Given the description of an element on the screen output the (x, y) to click on. 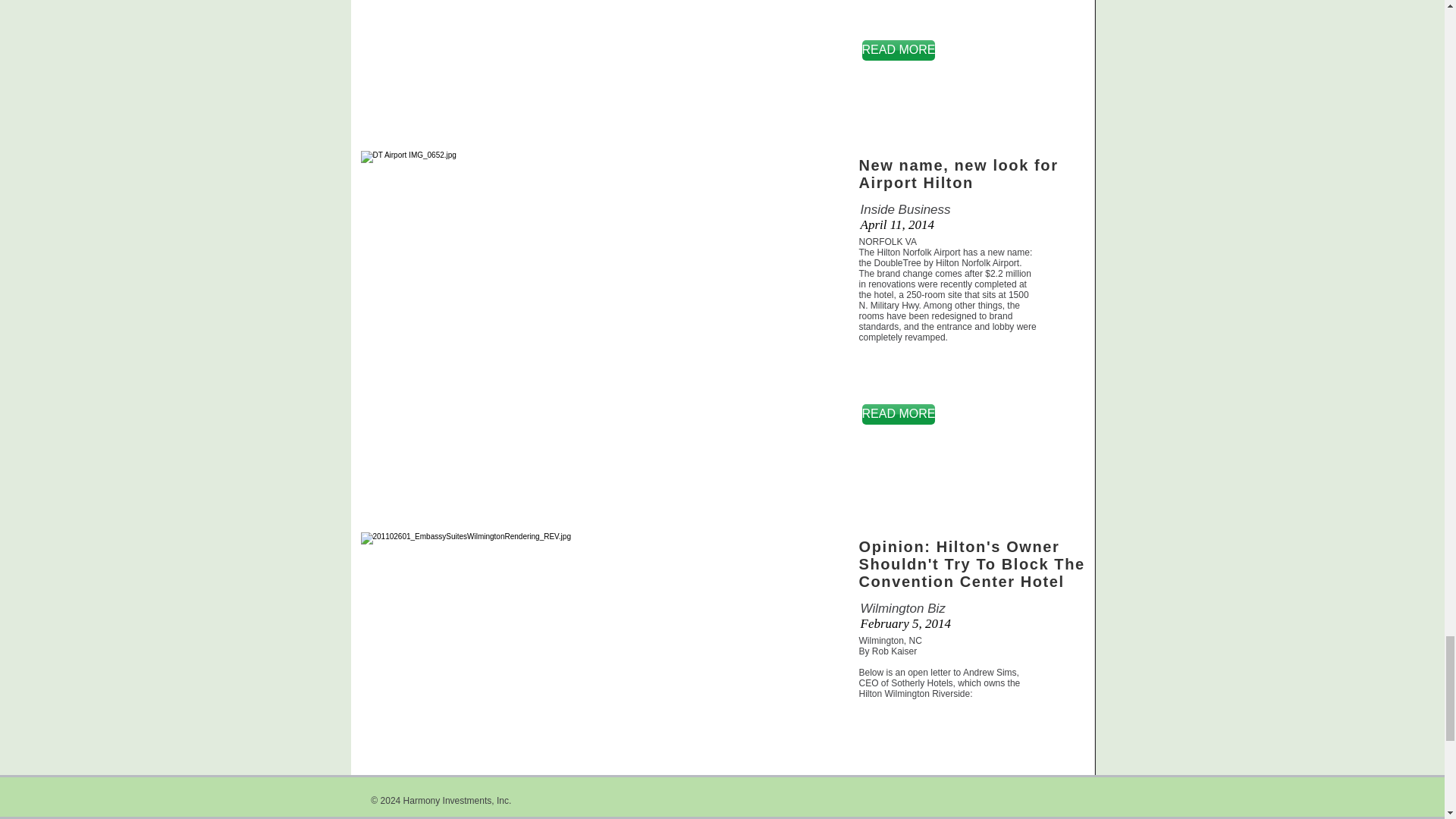
READ MORE (897, 811)
READ MORE (897, 50)
READ MORE (897, 414)
